Given the description of an element on the screen output the (x, y) to click on. 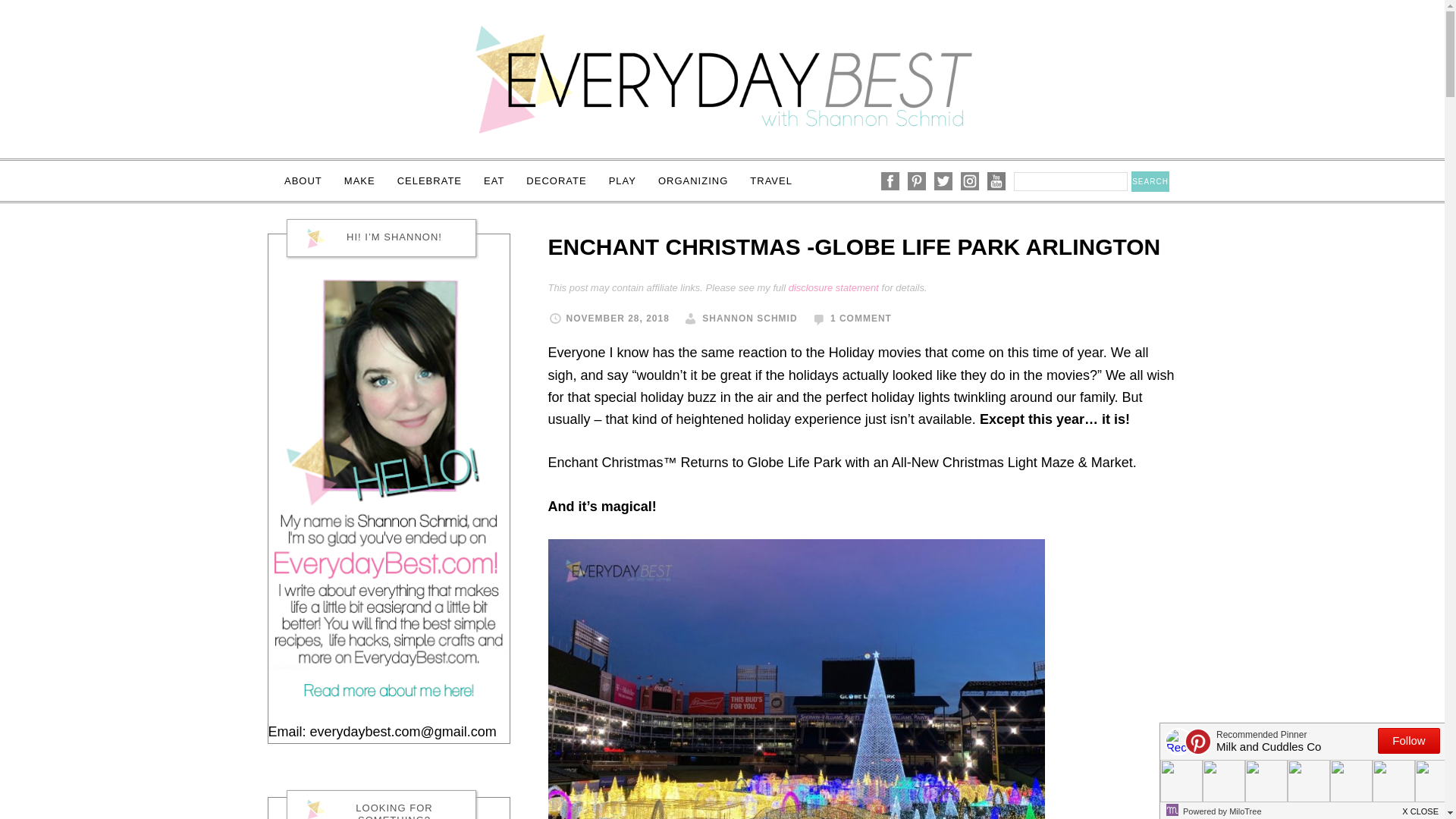
Search (1150, 181)
Search (1150, 181)
EAT (493, 180)
DECORATE (555, 180)
CELEBRATE (429, 180)
TRAVEL (771, 180)
EVERYDAY BEST (722, 79)
PLAY (622, 180)
ORGANIZING (692, 180)
ABOUT (303, 180)
MAKE (359, 180)
